Given the description of an element on the screen output the (x, y) to click on. 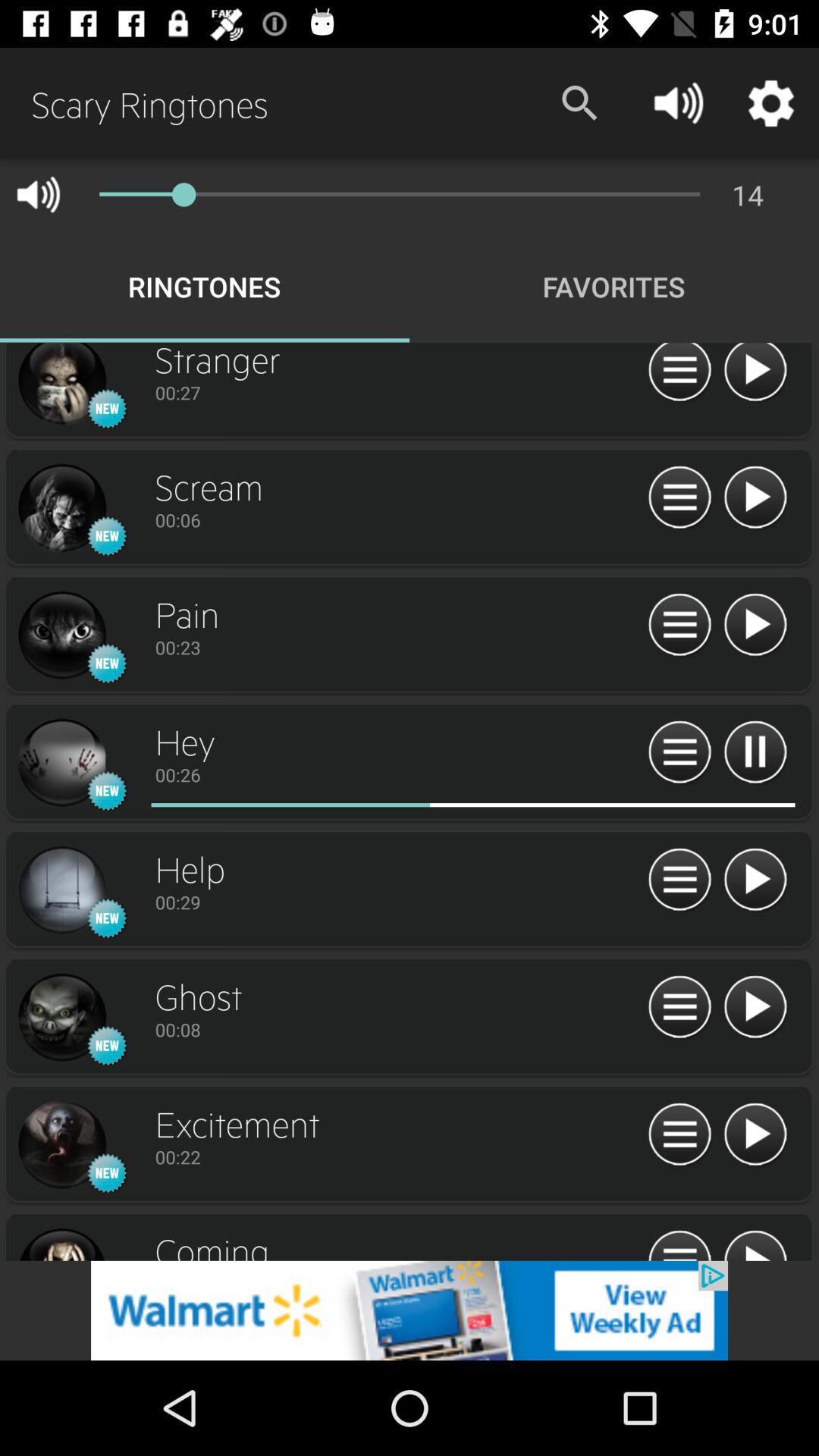
play option (755, 374)
